Given the description of an element on the screen output the (x, y) to click on. 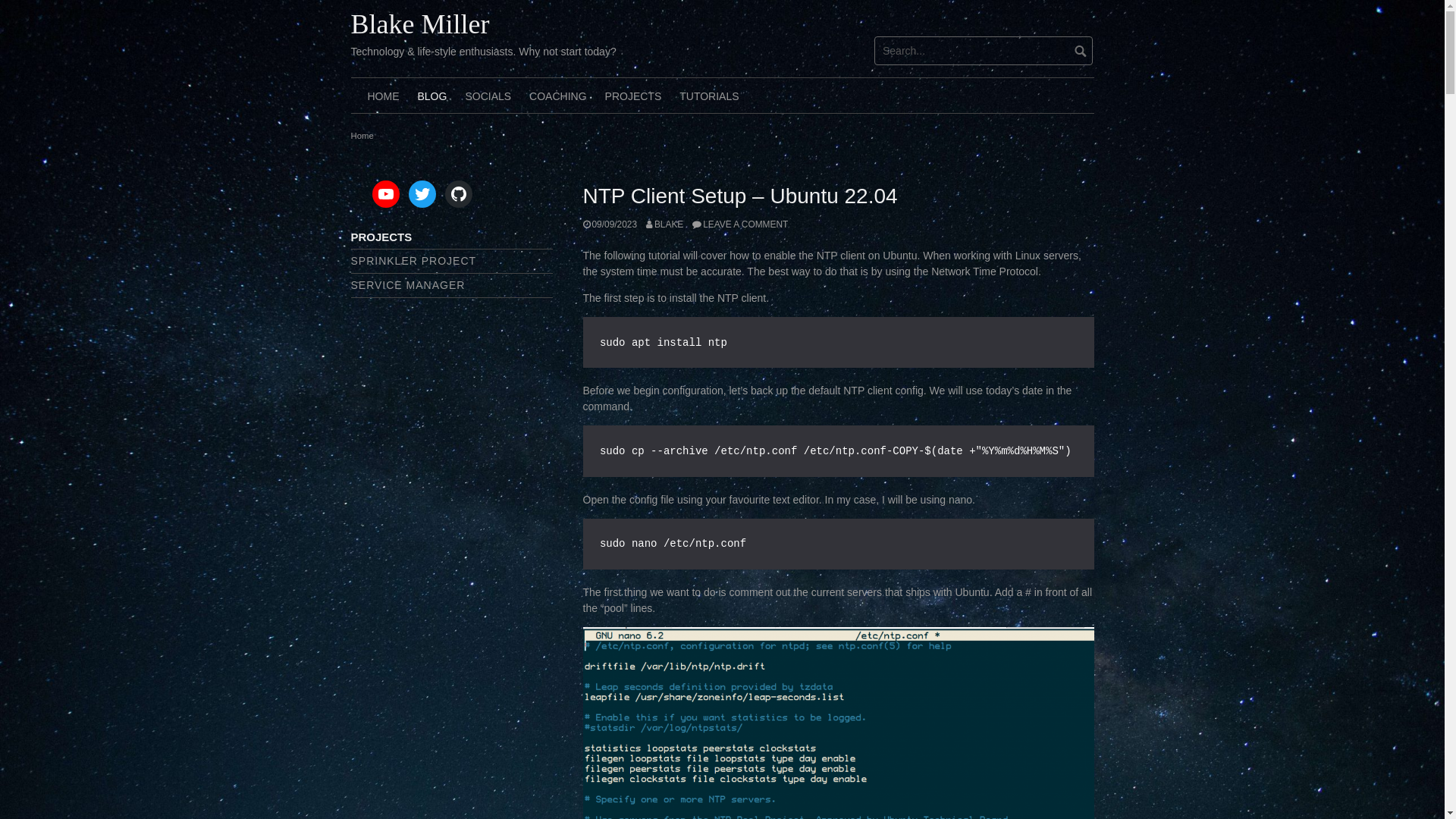
LEAVE A COMMENT Element type: text (739, 224)
SOCIALS Element type: text (487, 95)
SPRINKLER PROJECT Element type: text (413, 260)
BLOG Element type: text (431, 95)
TUTORIALS Element type: text (708, 95)
Search for: Element type: hover (983, 50)
HOME Element type: text (382, 95)
GitHub Element type: text (458, 193)
COACHING Element type: text (557, 95)
YouTube Element type: text (385, 193)
Twitter Element type: text (422, 193)
PROJECTS Element type: text (633, 95)
Blake Miller Element type: text (419, 24)
BLAKE Element type: text (664, 224)
SERVICE MANAGER Element type: text (407, 285)
09/09/2023 Element type: text (609, 224)
